Given the description of an element on the screen output the (x, y) to click on. 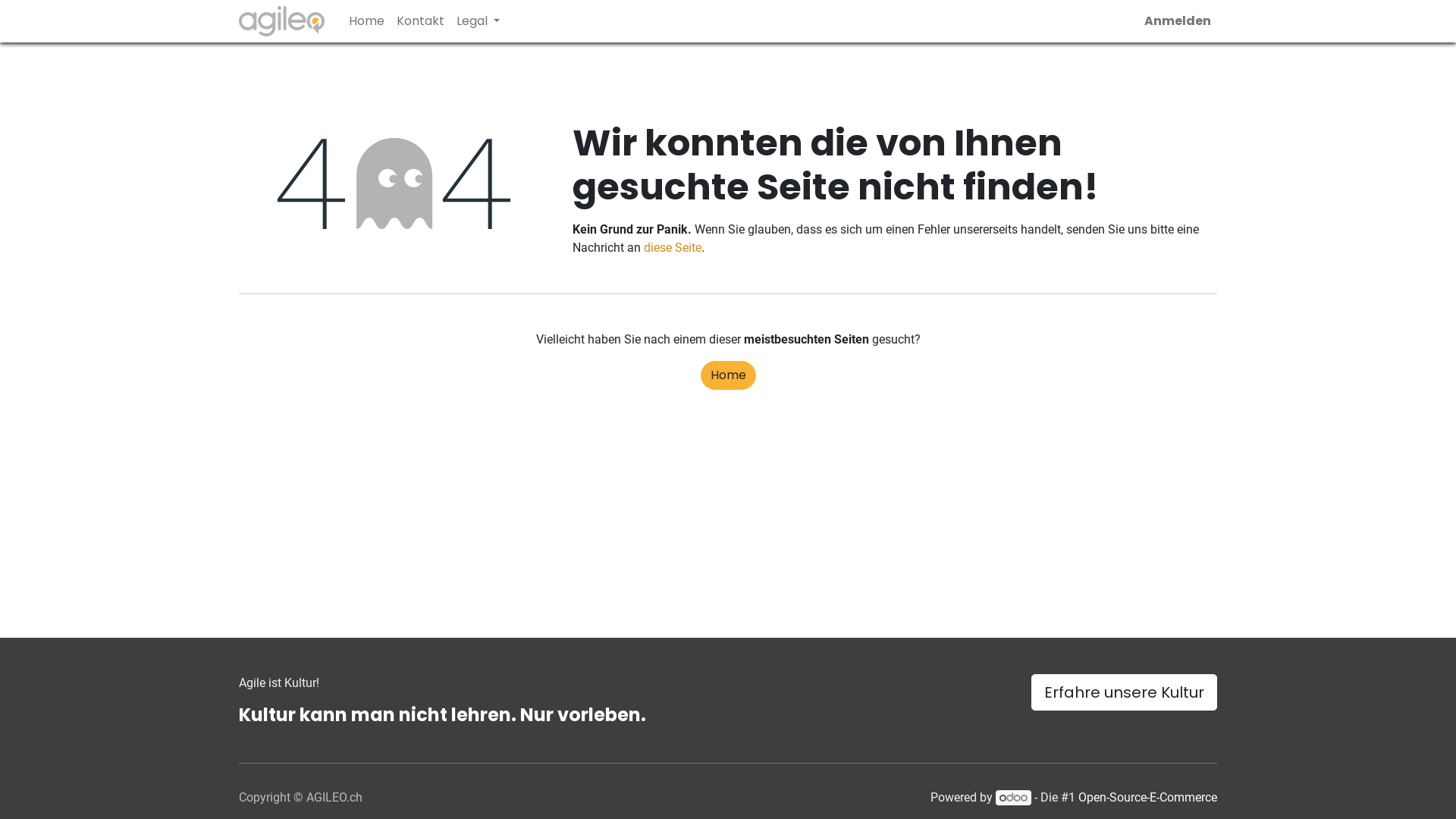
Erfahre unsere Kultur Element type: text (1124, 692)
Agileo Element type: hover (281, 21)
Kontakt Element type: text (420, 21)
Home Element type: text (366, 21)
Open-Source-E-Commerce Element type: text (1147, 797)
diese Seite Element type: text (672, 247)
Anmelden Element type: text (1177, 21)
Legal Element type: text (477, 21)
Home Element type: text (728, 374)
